Given the description of an element on the screen output the (x, y) to click on. 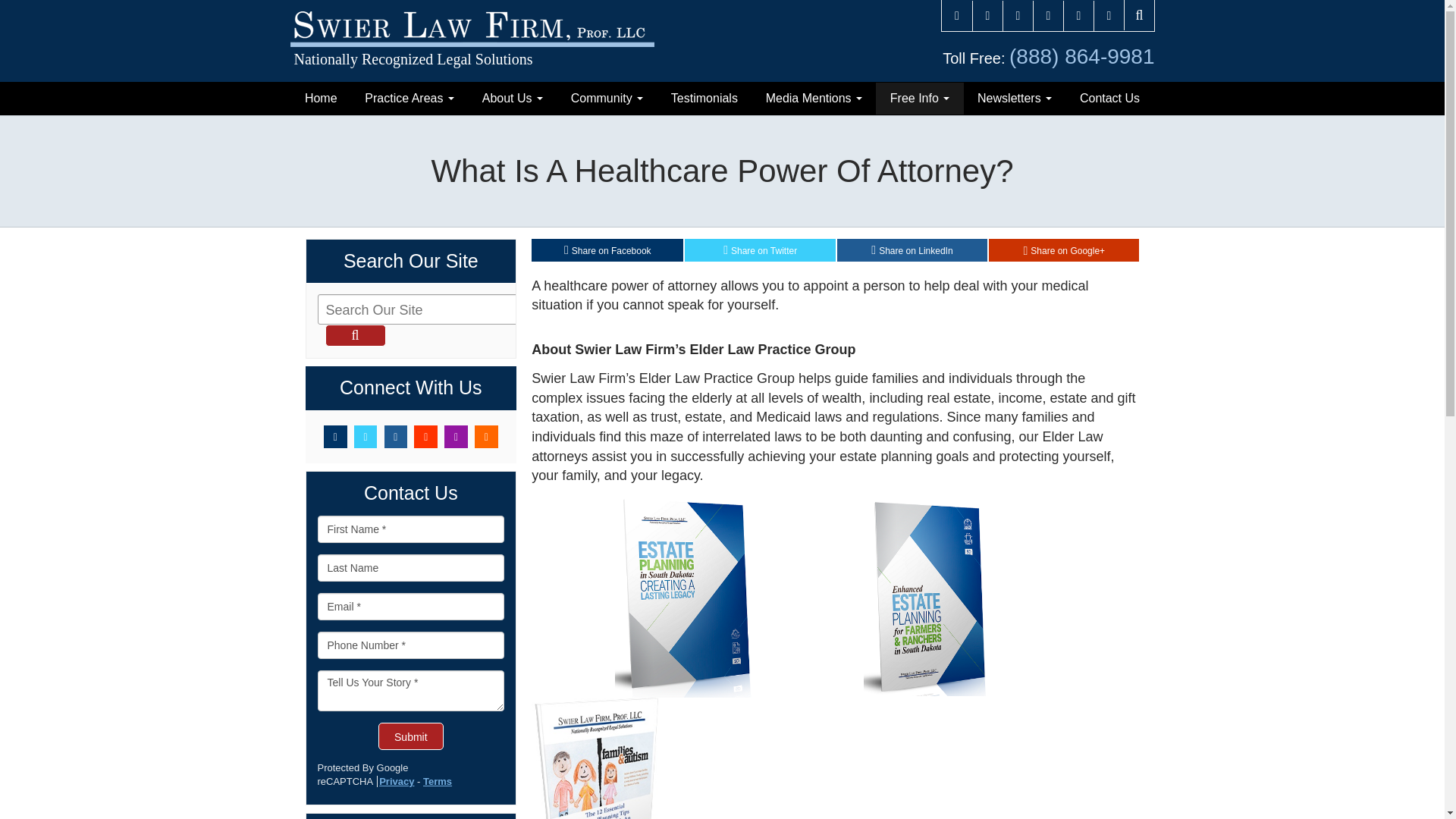
Practice Areas (408, 98)
Testimonials (703, 98)
About Us (511, 98)
Home (320, 98)
Nationally Recognized Legal Solutions (471, 40)
Media Mentions (813, 98)
Community (606, 98)
Search (354, 335)
